Given the description of an element on the screen output the (x, y) to click on. 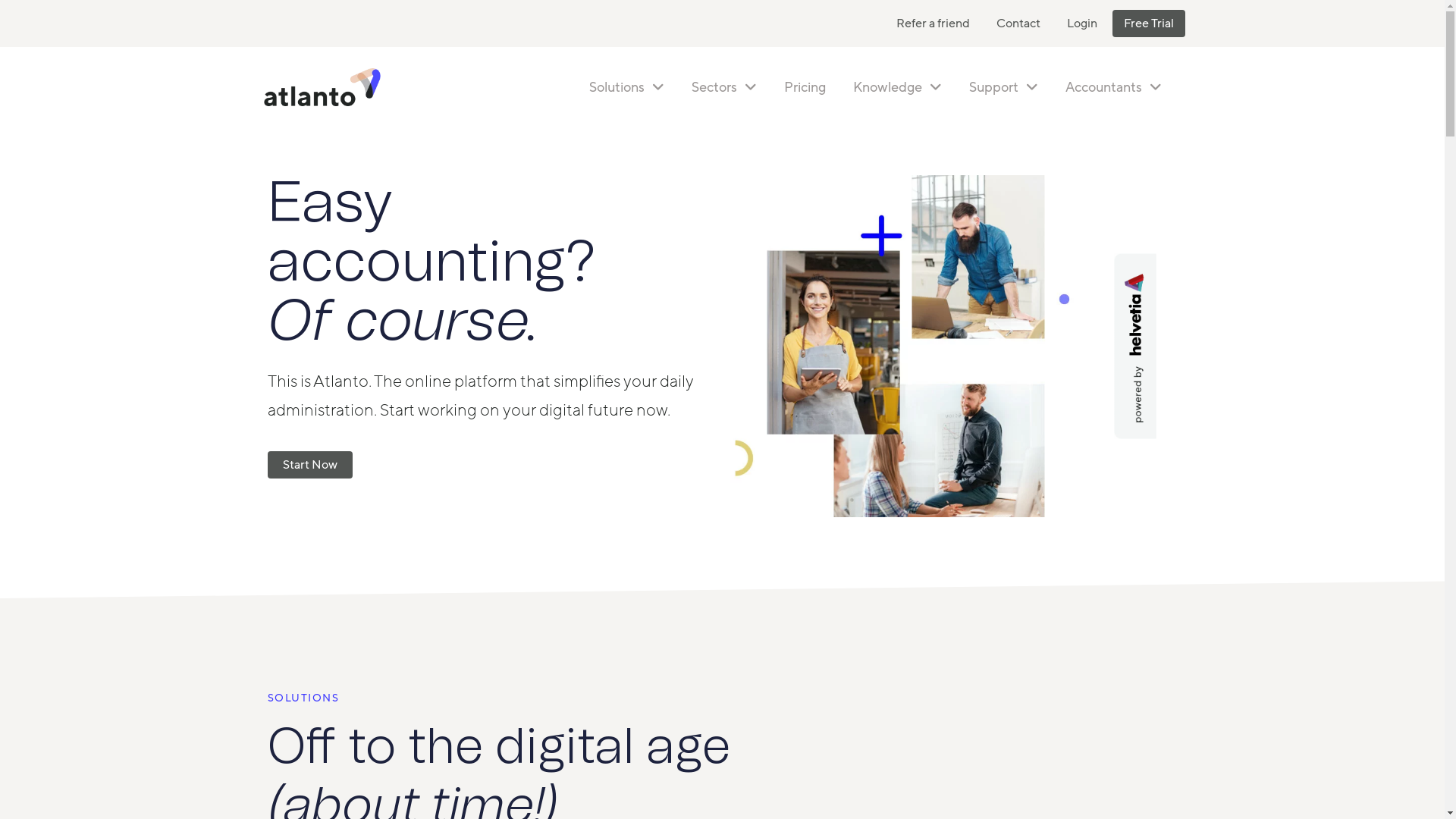
Knowledge Element type: text (896, 86)
Support Element type: text (1003, 86)
Solutions Element type: text (625, 86)
Accountants Element type: text (1112, 86)
Home 2 Element type: hover (1134, 346)
Contact Element type: text (1017, 23)
Login Element type: text (1081, 23)
Sectors Element type: text (724, 86)
Home 1 Element type: hover (905, 346)
Start Now Element type: text (308, 464)
Free Trial Element type: text (1147, 23)
Pricing Element type: text (804, 86)
Refer a friend Element type: text (932, 23)
